Given the description of an element on the screen output the (x, y) to click on. 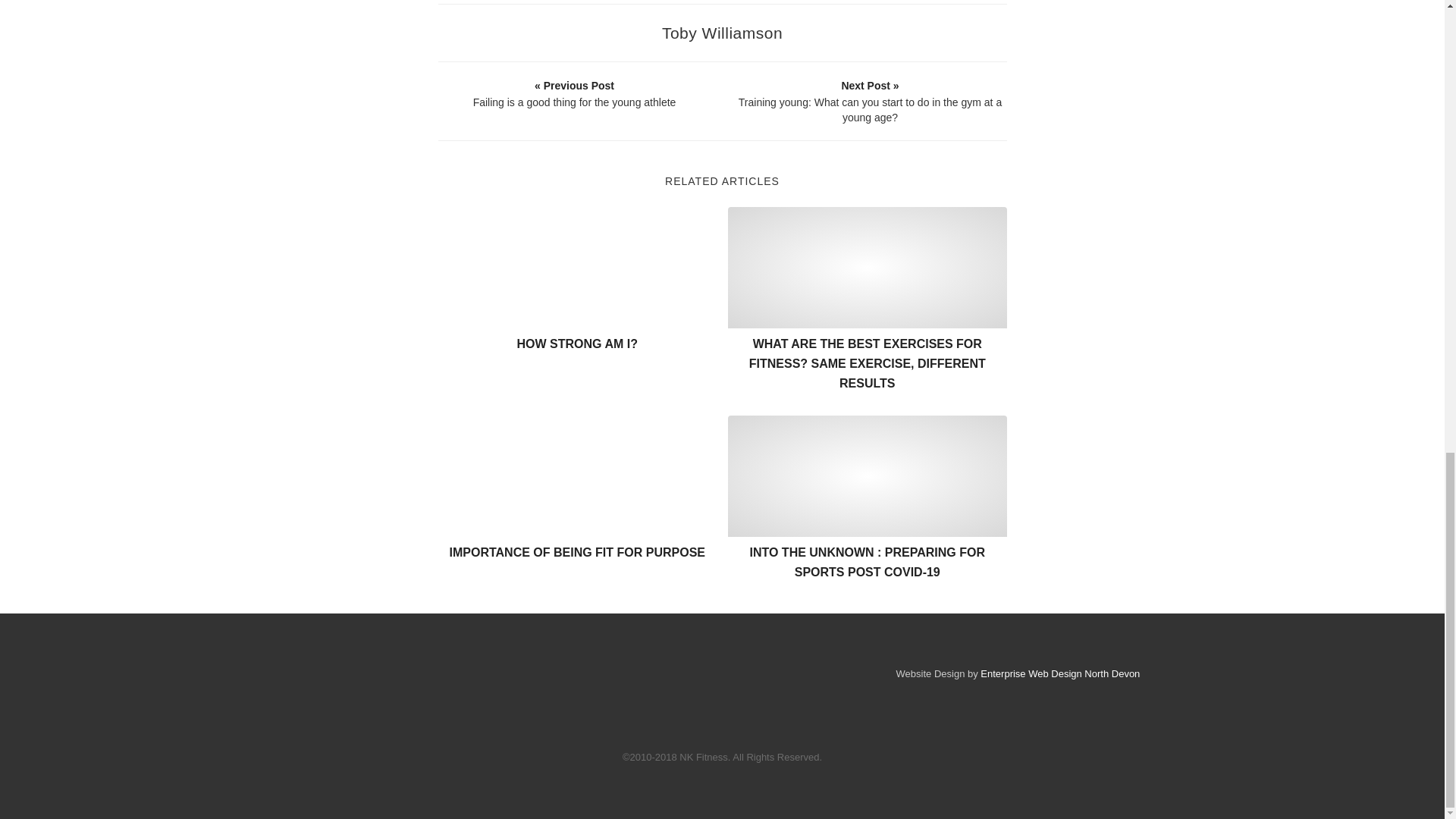
IMPORTANCE OF BEING FIT FOR PURPOSE (576, 552)
Importance of being fit for purpose (577, 476)
INTO THE UNKNOWN : PREPARING FOR SPORTS POST COVID-19 (867, 562)
Failing is a good thing for the young athlete (574, 92)
Enterprise Web Design North Devon (1059, 673)
Into the unknown : Preparing for sports post Covid-19 (867, 476)
HOW STRONG AM I? (576, 343)
Toby Williamson (722, 32)
How strong am I? (577, 267)
